Given the description of an element on the screen output the (x, y) to click on. 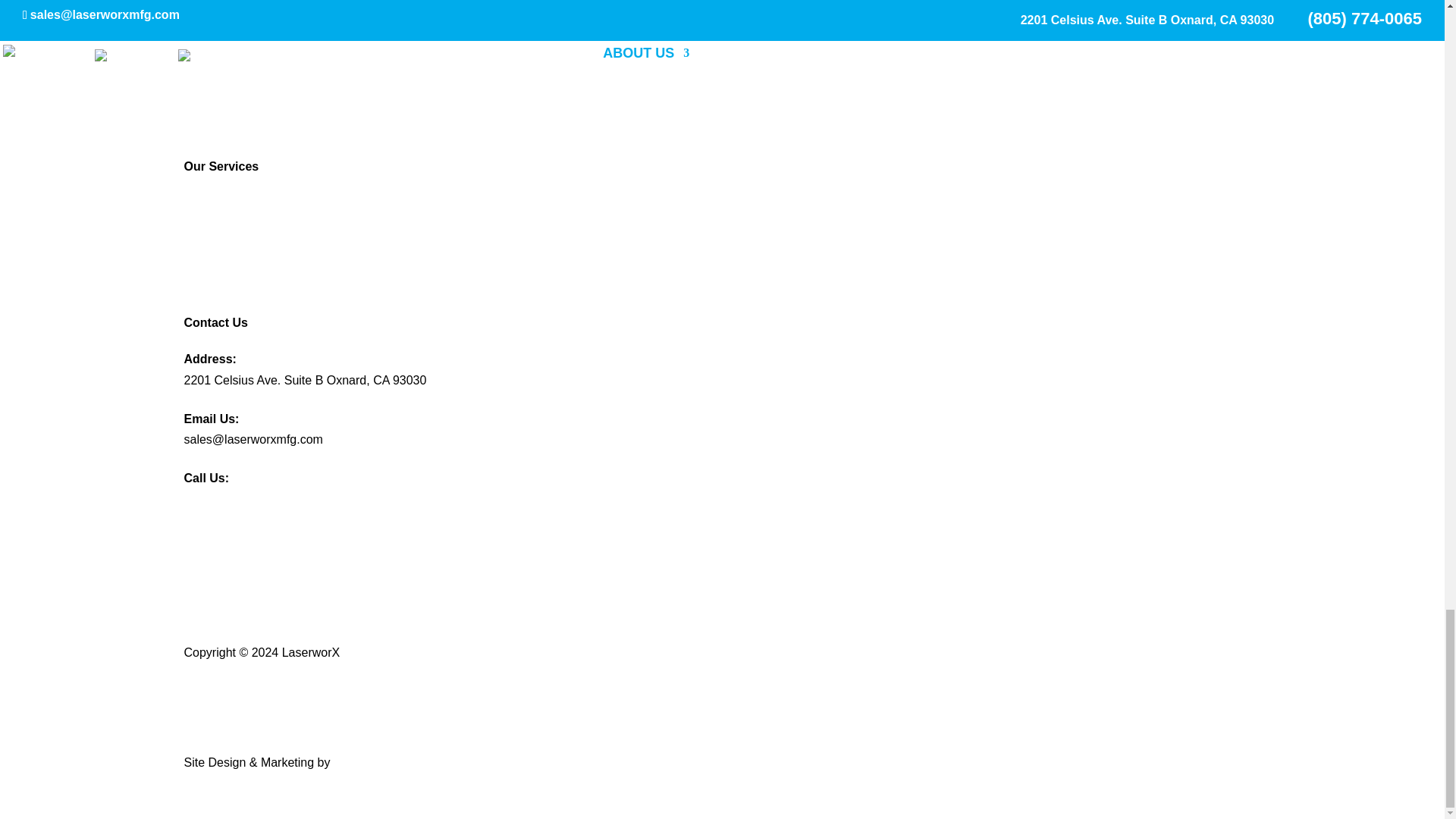
Home (199, 26)
Metal Manufacturing (238, 203)
Certifications (218, 109)
Sheet Metal Forming (240, 244)
Projects (205, 88)
Services (206, 67)
Welding (205, 285)
Laser Cutting Services (244, 223)
Contact Us (213, 129)
About Us (207, 47)
